Given the description of an element on the screen output the (x, y) to click on. 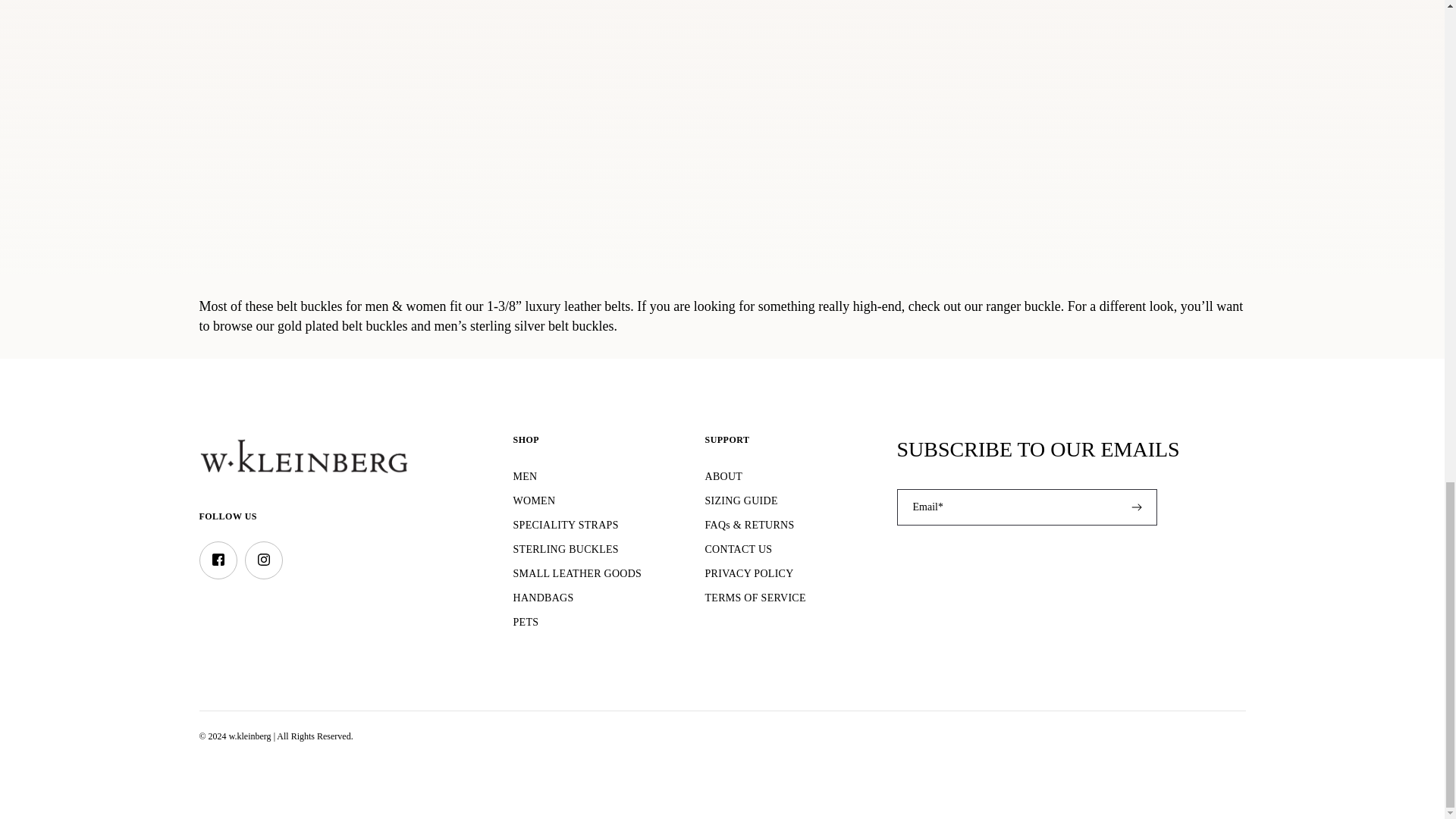
w.kleinberg on Facebook (218, 560)
w.kleinberg on Instagram (263, 560)
w.kleinberg (302, 454)
